Given the description of an element on the screen output the (x, y) to click on. 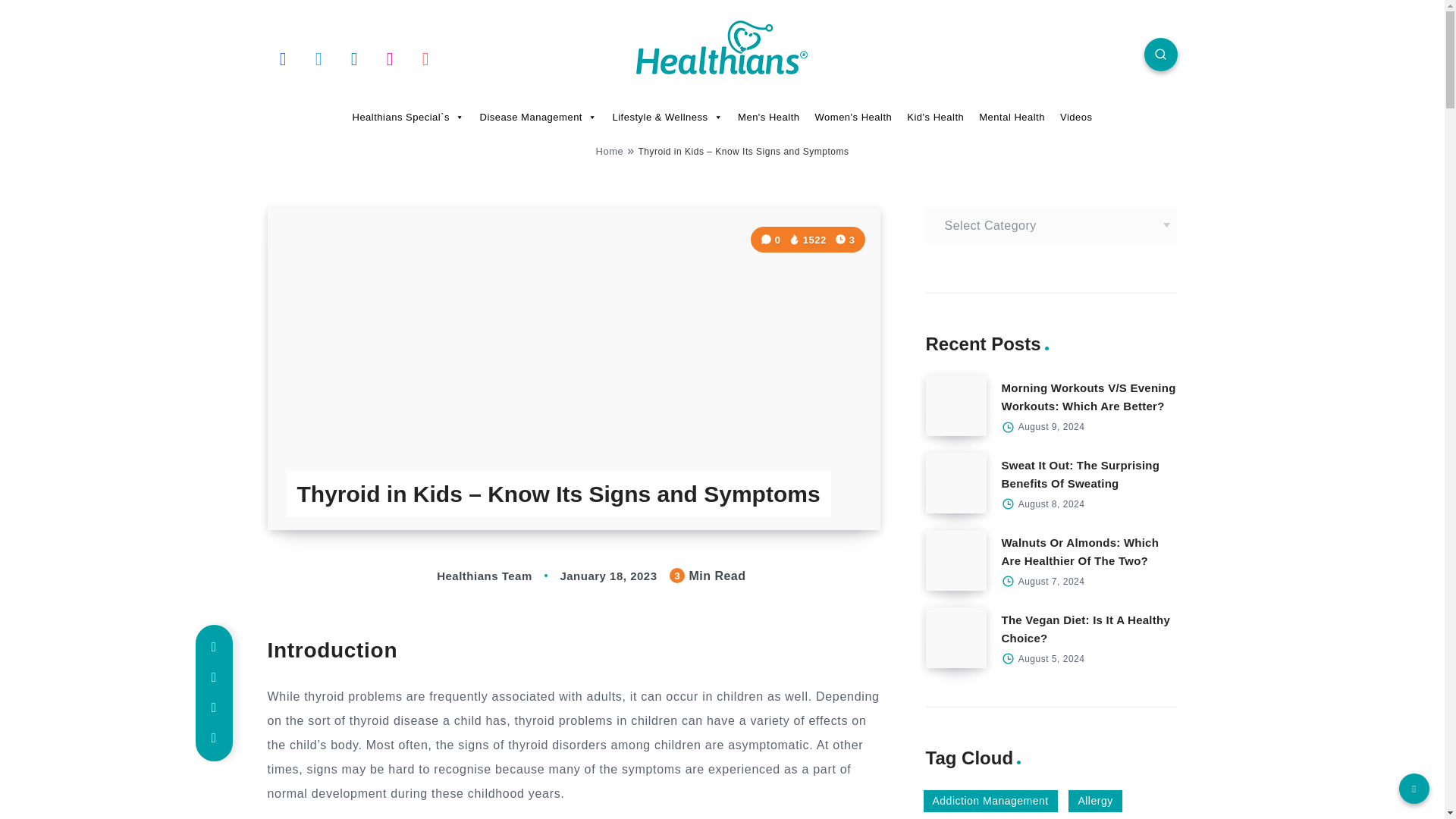
3 Min Read (845, 239)
1522 Views (808, 239)
Author: Healthians Team (468, 575)
0 Comments (772, 239)
